Given the description of an element on the screen output the (x, y) to click on. 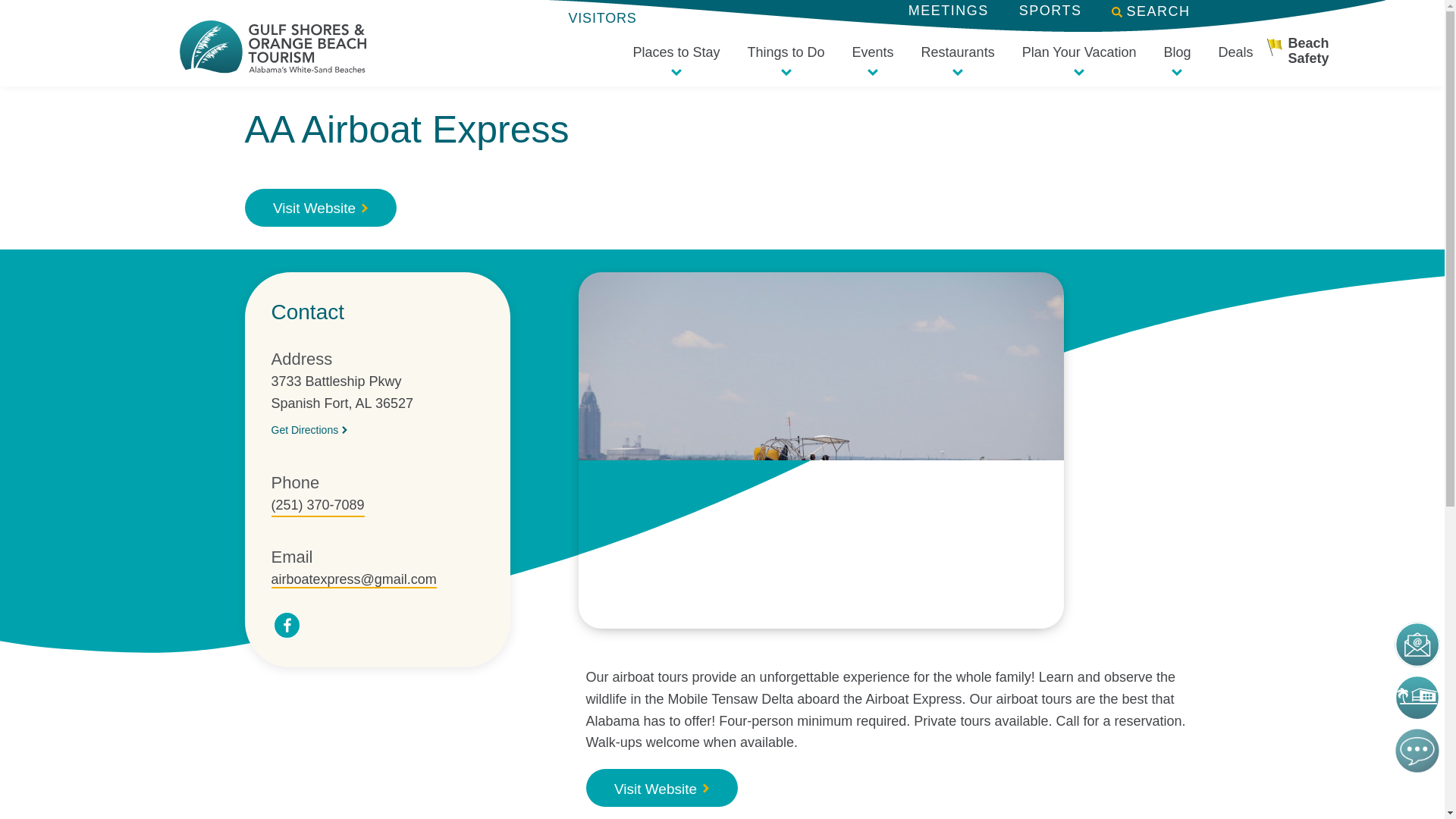
SEARCH (1152, 11)
SPORTS (1050, 10)
Things to Do (785, 58)
MEETINGS (948, 10)
Places to Stay (675, 58)
